Given the description of an element on the screen output the (x, y) to click on. 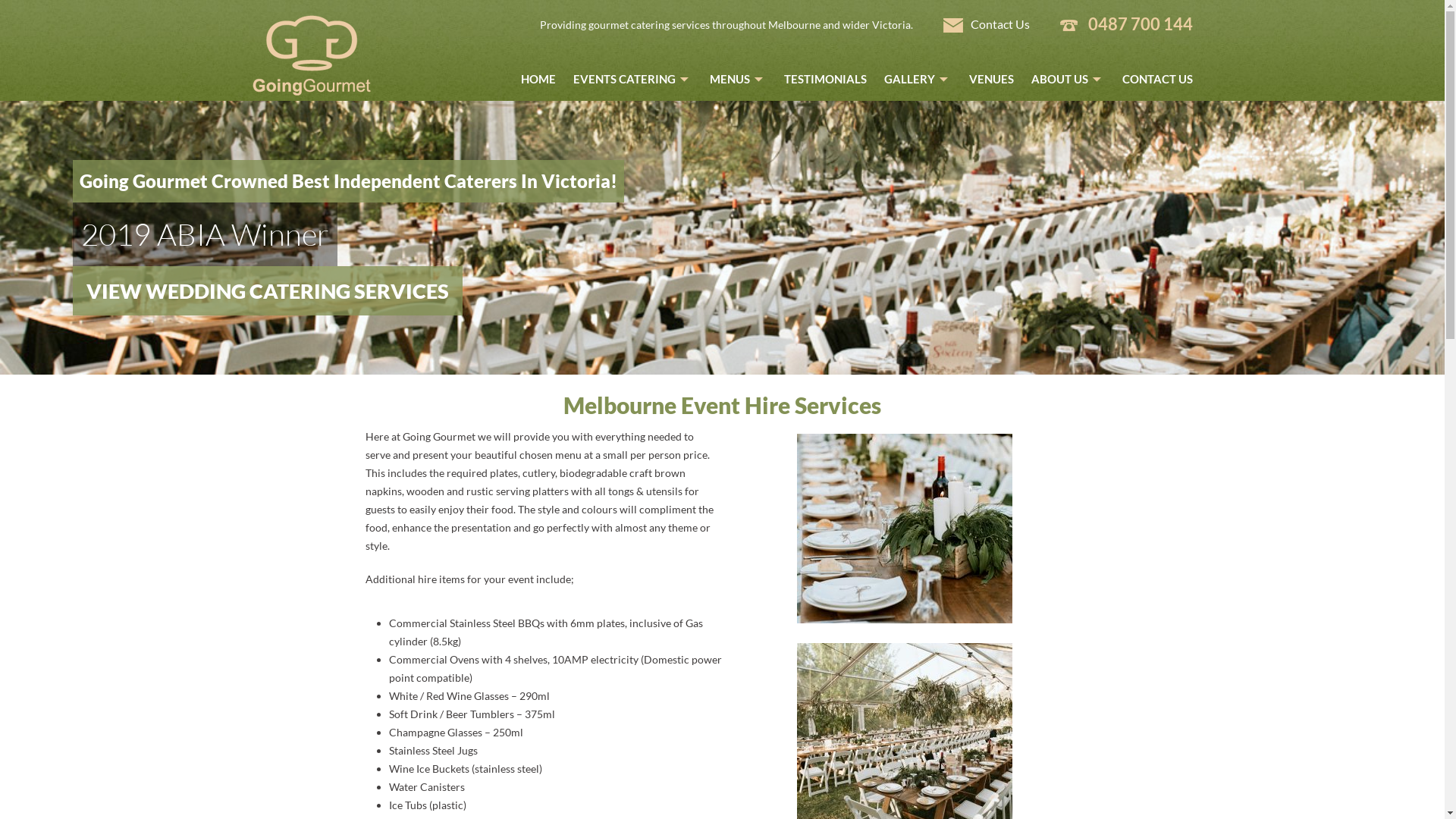
EVENTS CATERING Element type: text (632, 78)
Contact Us Element type: text (986, 23)
ABOUT US Element type: text (1067, 78)
HOME Element type: text (537, 78)
GALLERY Element type: text (917, 78)
TESTIMONIALS Element type: text (825, 78)
CONTACT US Element type: text (1153, 74)
0487 700 144 Element type: text (1139, 23)
VIEW WEDDING CATERING SERVICES Element type: text (267, 295)
Going Gourmet Element type: hover (310, 90)
MENUS Element type: text (738, 78)
VENUES Element type: text (991, 78)
